Given the description of an element on the screen output the (x, y) to click on. 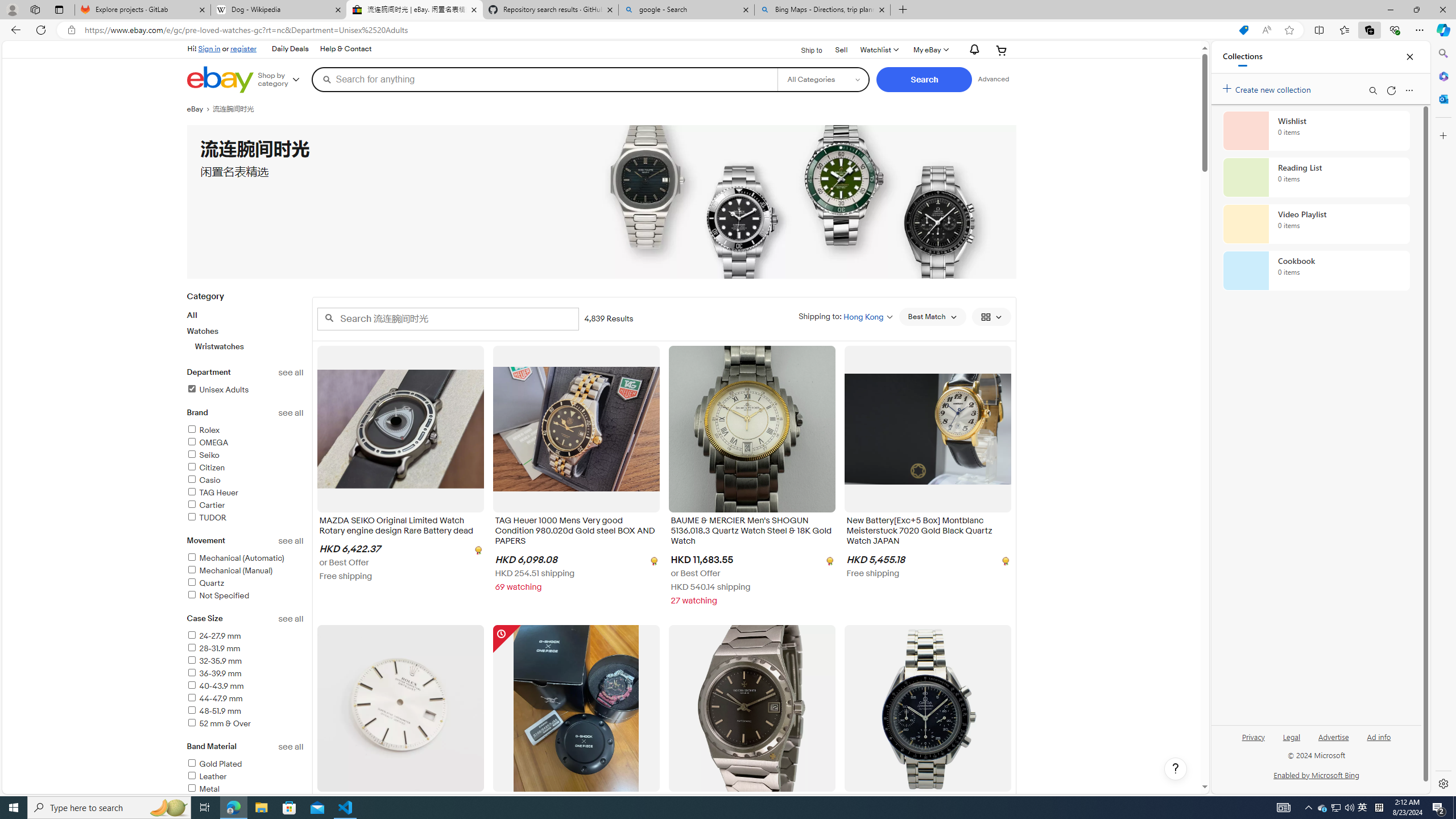
Not Specified (245, 596)
Mechanical (Manual) (229, 570)
24-27.9 mm (213, 636)
Leather (206, 776)
Help & Contact (345, 49)
My eBayExpand My eBay (930, 49)
More options menu (1409, 90)
44-47.9 mm (214, 698)
Mechanical (Manual) (245, 570)
Casio (245, 480)
